Given the description of an element on the screen output the (x, y) to click on. 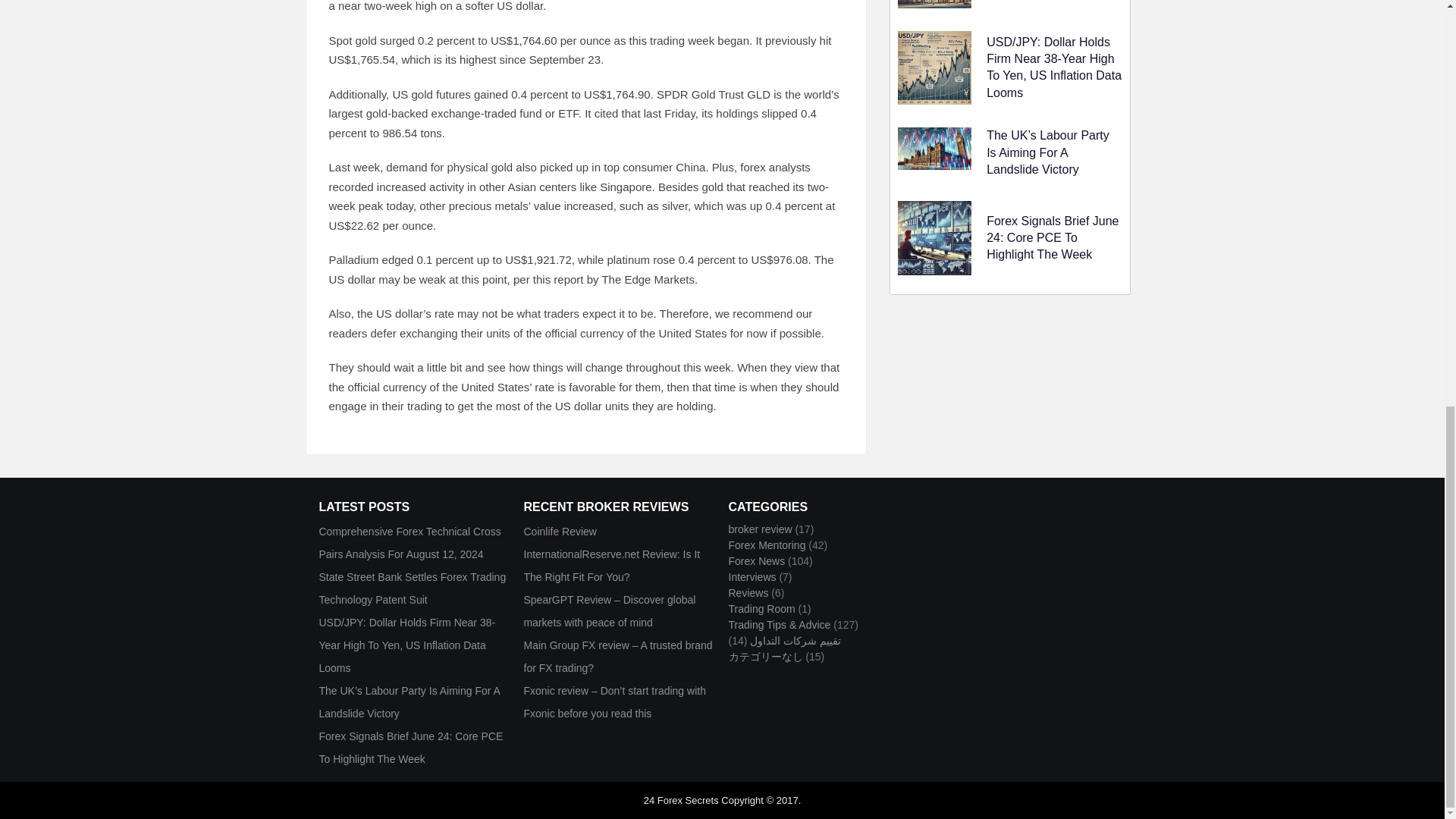
Forex Signals Brief June 24: Core PCE To Highlight The Week (1052, 237)
